Given the description of an element on the screen output the (x, y) to click on. 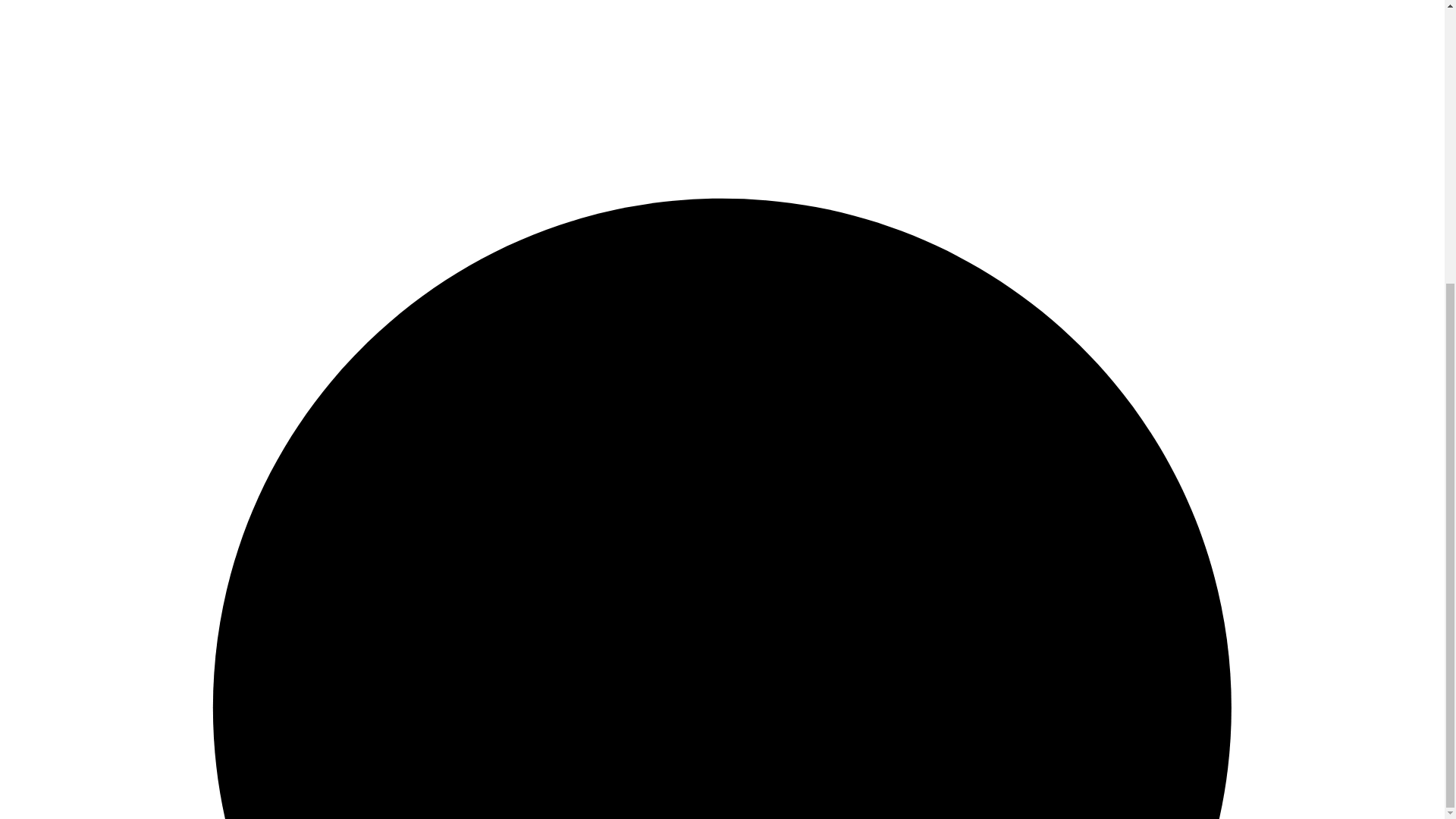
February 15, 2022 (934, 725)
